Given the description of an element on the screen output the (x, y) to click on. 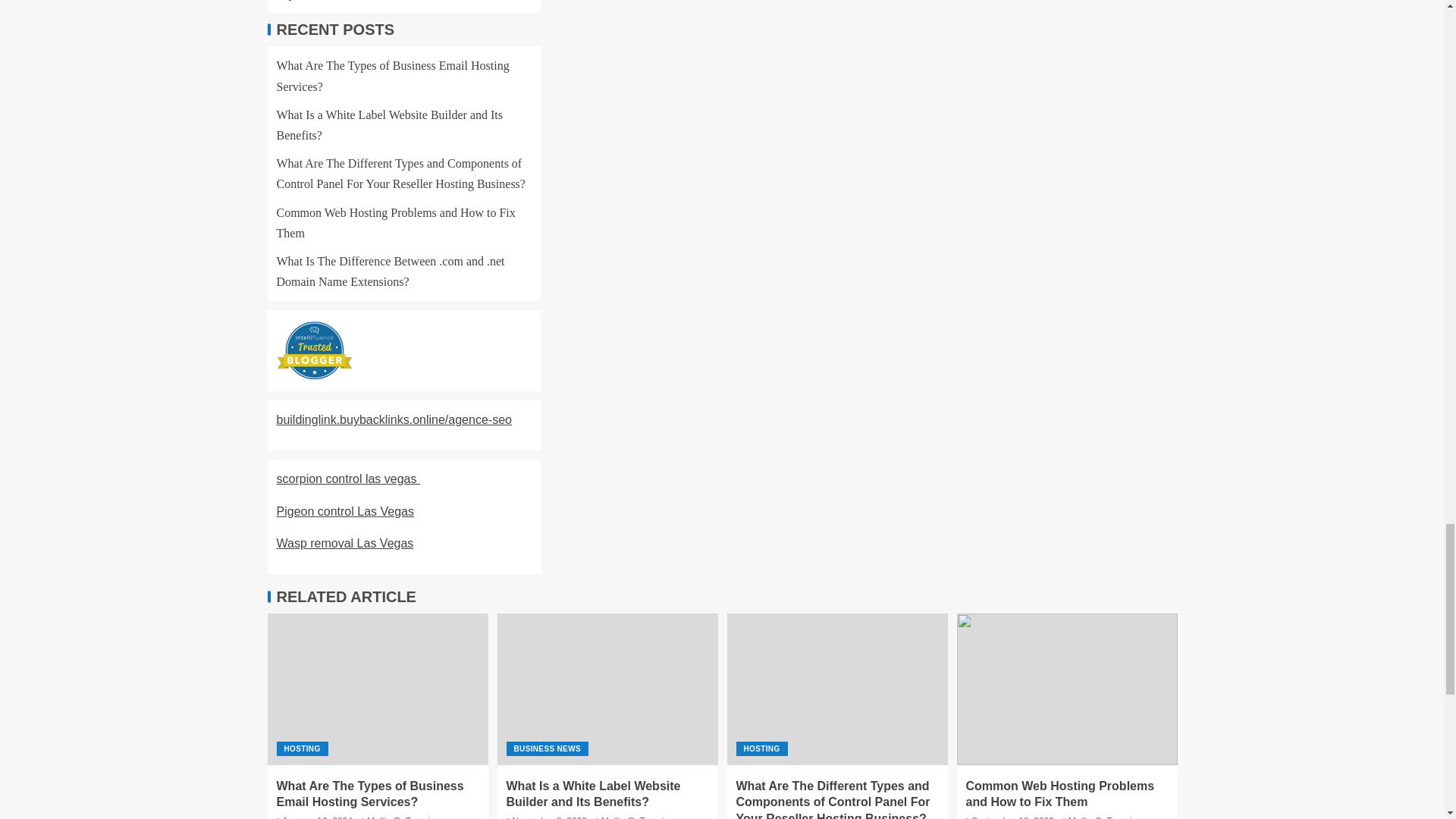
What Are The Types of Business Email Hosting Services? (392, 75)
Wasp removal Las Vegas (344, 543)
Pigeon control Las Vegas (344, 511)
Common Web Hosting Problems and How to Fix Them (395, 222)
scorpion control las vegas  (347, 478)
What Is a White Label Website Builder and Its Benefits? (389, 124)
